Given the description of an element on the screen output the (x, y) to click on. 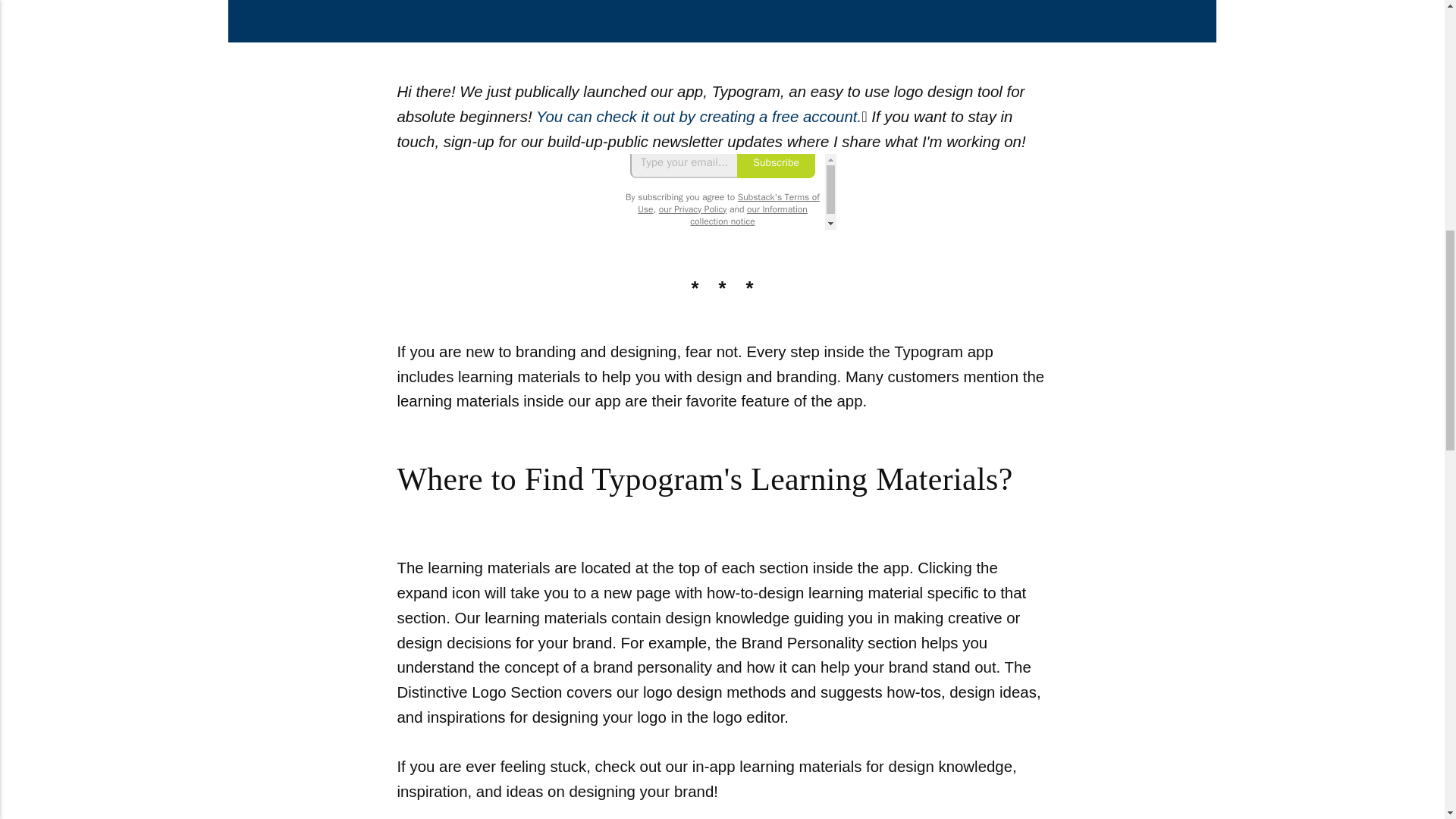
You can check it out by creating a free account. (696, 116)
